Given the description of an element on the screen output the (x, y) to click on. 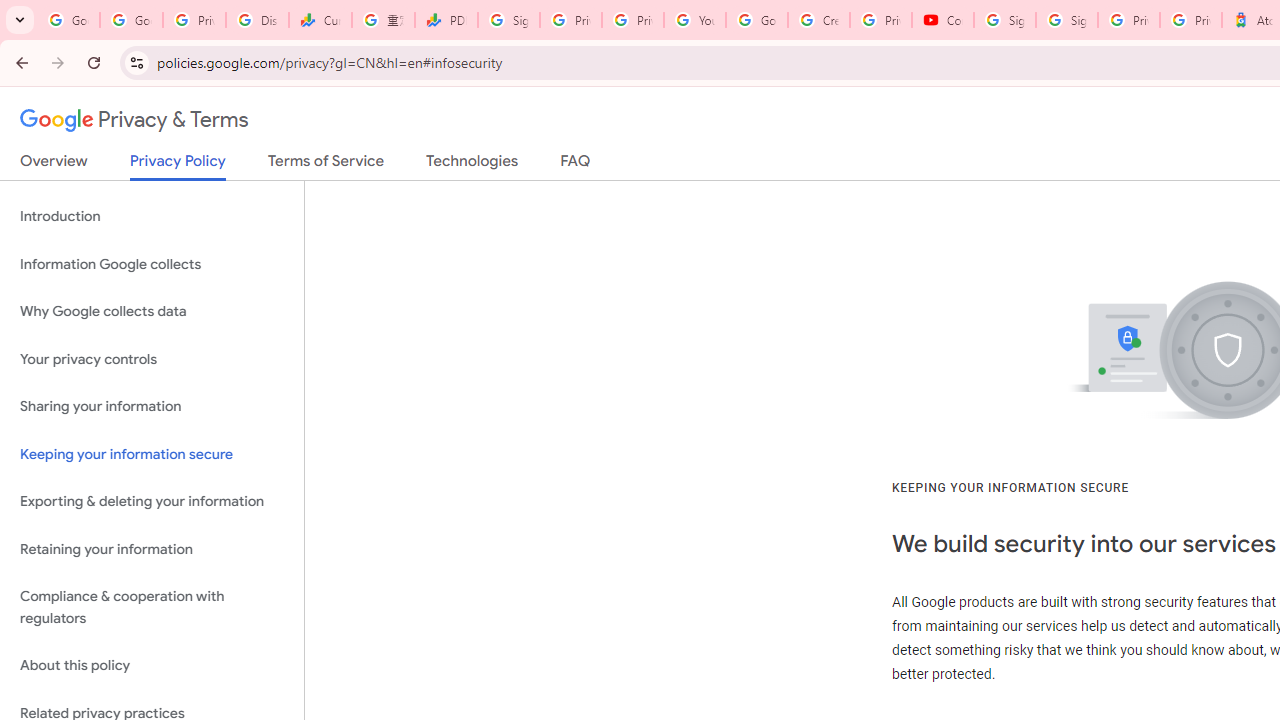
Exporting & deleting your information (152, 502)
Content Creator Programs & Opportunities - YouTube Creators (942, 20)
About this policy (152, 666)
Sign in - Google Accounts (1066, 20)
Why Google collects data (152, 312)
Currencies - Google Finance (320, 20)
Information Google collects (152, 263)
Google Workspace Admin Community (68, 20)
Keeping your information secure (152, 453)
